Given the description of an element on the screen output the (x, y) to click on. 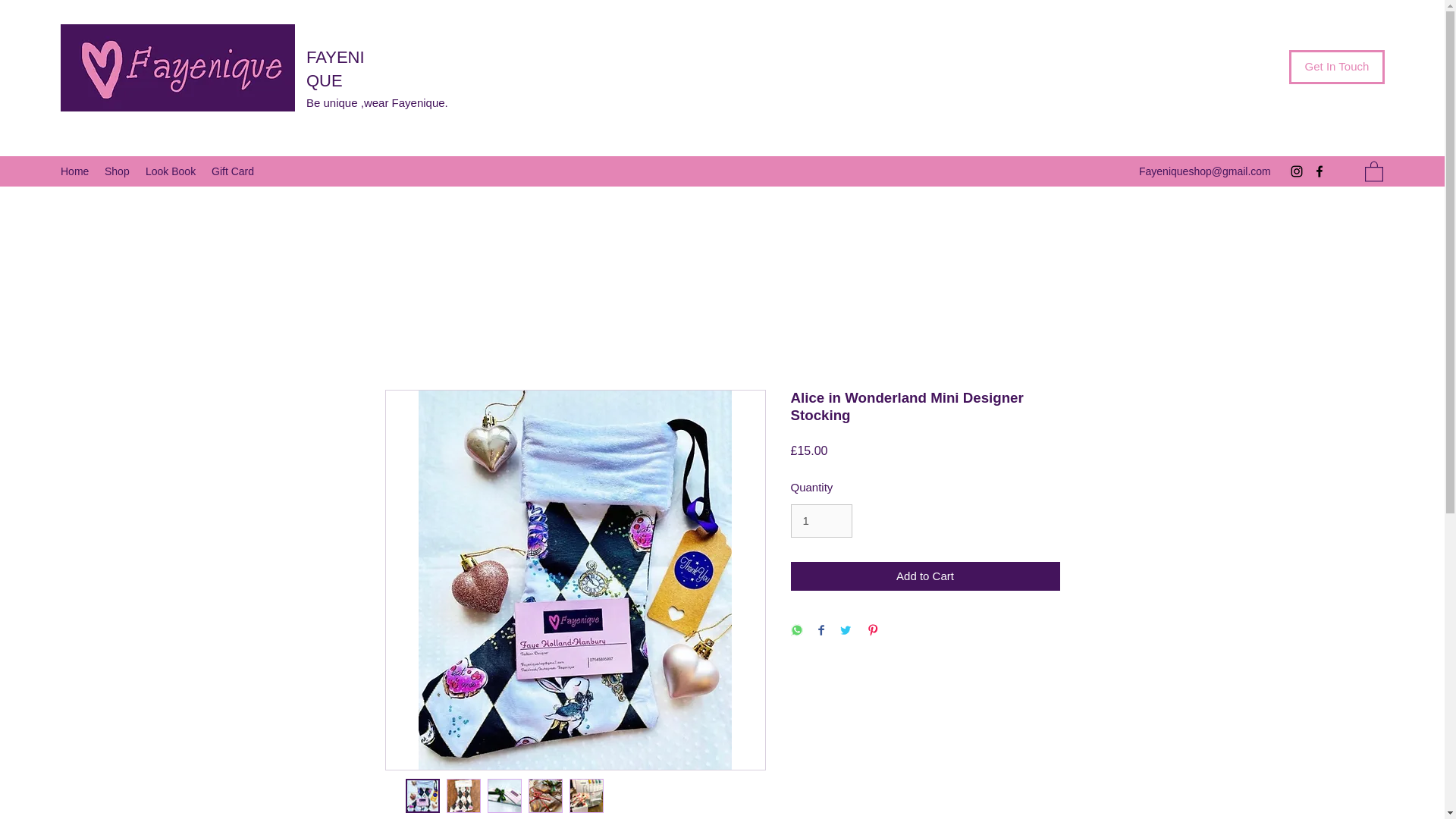
Look Book (170, 170)
Get In Touch (1336, 66)
Home (74, 170)
FAYENIQUE (335, 68)
Shop (117, 170)
Gift Card (233, 170)
1 (820, 520)
Add to Cart (924, 576)
